Given the description of an element on the screen output the (x, y) to click on. 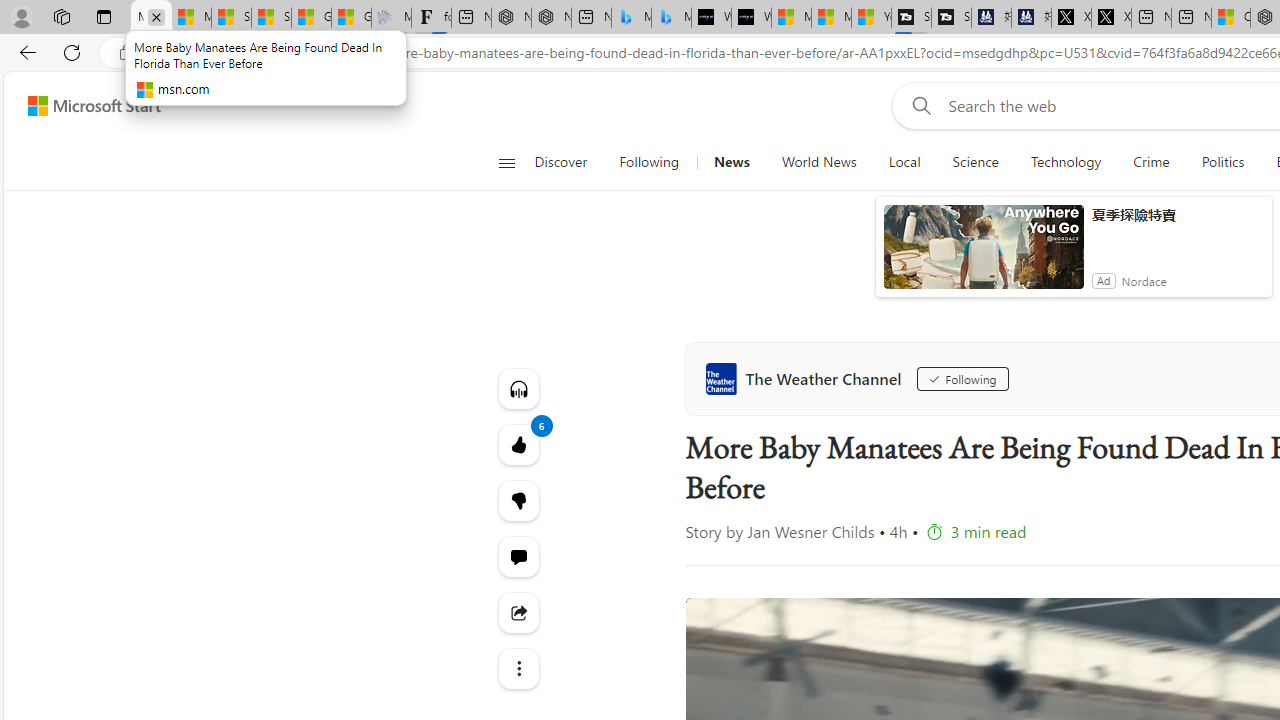
Share this story (517, 612)
World News (818, 162)
Politics (1222, 162)
